Given the description of an element on the screen output the (x, y) to click on. 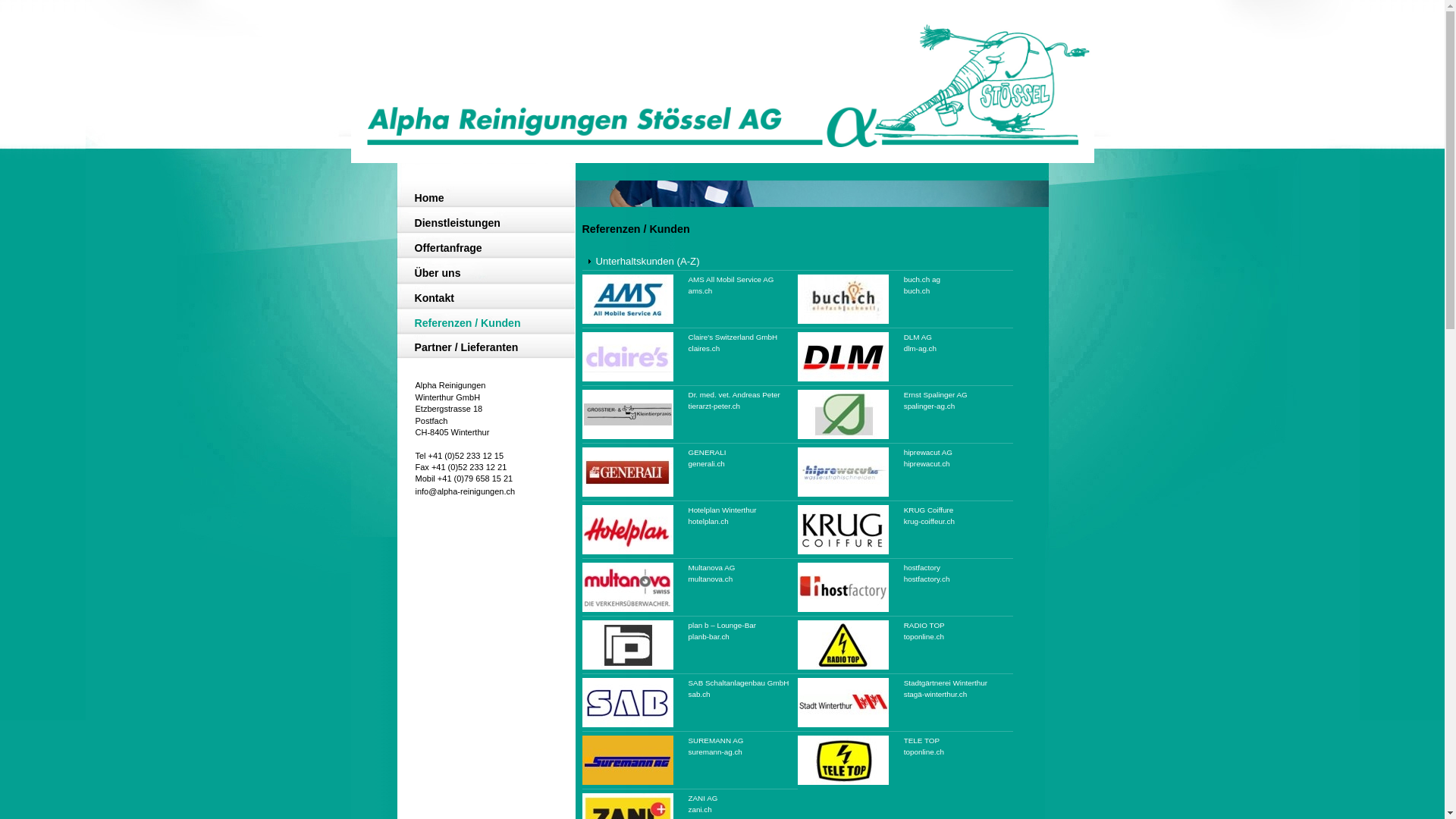
buch.ch Element type: text (916, 290)
toponline.ch Element type: text (923, 751)
claires.ch Element type: text (704, 348)
Dienstleistungen Element type: text (480, 224)
Offertanfrage Element type: text (480, 249)
generali.ch Element type: text (706, 463)
Referenzen / Kunden Element type: text (480, 324)
hiprewacut.ch Element type: text (926, 463)
krug-coiffeur.ch Element type: text (928, 521)
toponline.ch Element type: text (923, 636)
Kontakt Element type: text (480, 299)
hostfactory.ch Element type: text (926, 578)
sab.ch Element type: text (699, 694)
suremann-ag.ch Element type: text (715, 751)
info@alpha-reinigungen.ch Element type: text (465, 490)
spalinger-ag.ch Element type: text (929, 405)
Home Element type: text (480, 199)
tierarzt-peter.ch Element type: text (714, 405)
planb-bar.ch Element type: text (708, 636)
ams.ch Element type: text (700, 290)
zani.ch Element type: text (700, 809)
multanova.ch Element type: text (710, 578)
Partner / Lieferanten Element type: text (480, 348)
dlm-ag.ch Element type: text (919, 348)
hotelplan.ch Element type: text (708, 521)
